Given the description of an element on the screen output the (x, y) to click on. 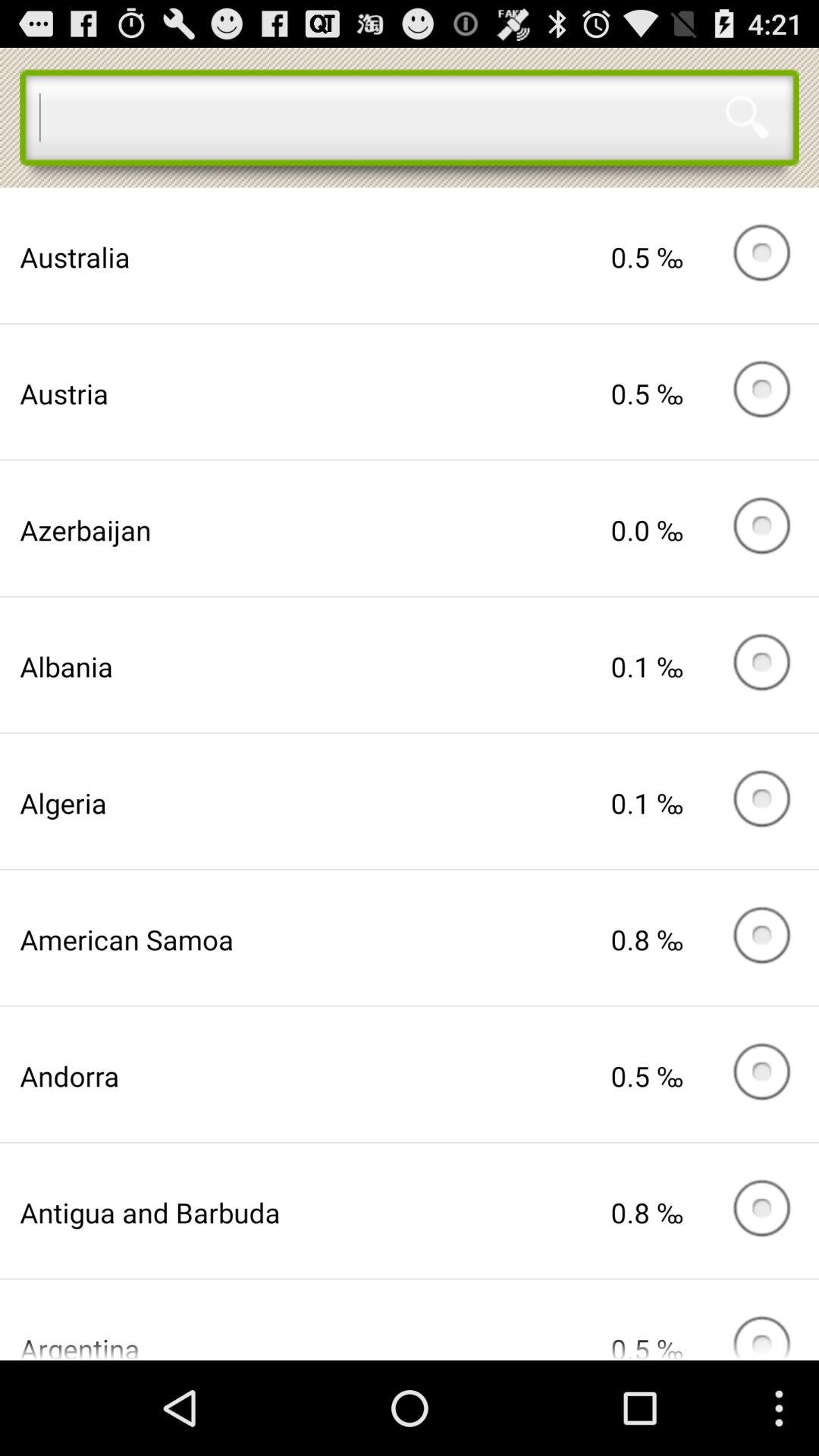
scroll to antigua and barbuda (314, 1212)
